Given the description of an element on the screen output the (x, y) to click on. 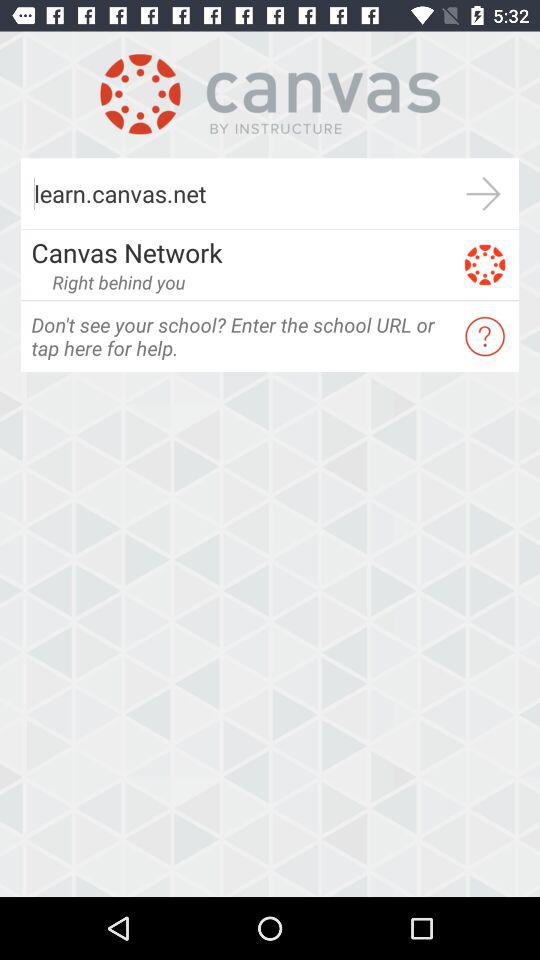
go (483, 193)
